Given the description of an element on the screen output the (x, y) to click on. 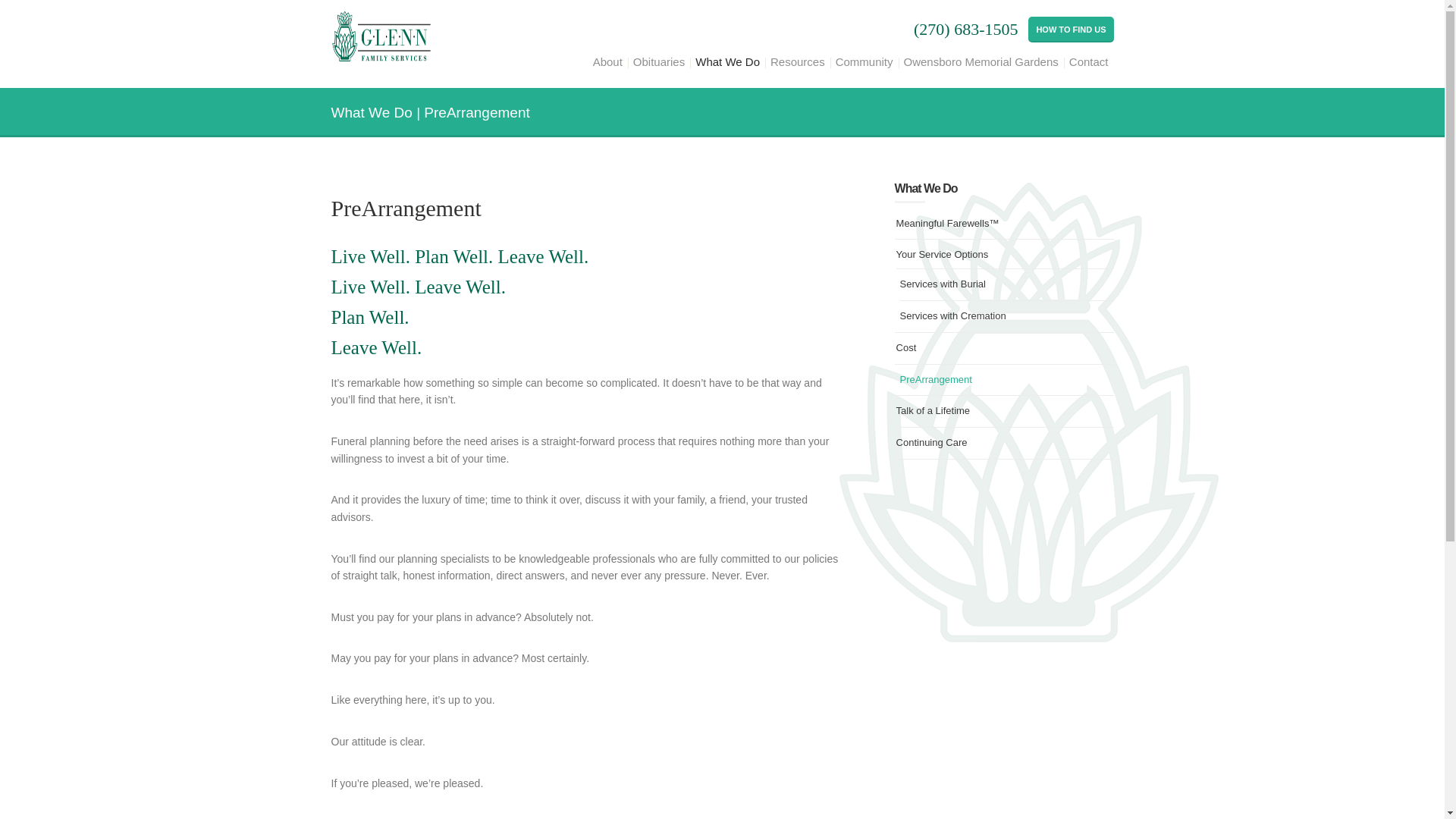
PreArrangement (934, 379)
Owensboro Memorial Gardens (981, 61)
Talk of a Lifetime (933, 410)
Contact (1088, 61)
Services with Cremation (952, 315)
Services with Burial (942, 283)
HOW TO FIND US (1070, 29)
Resources (797, 61)
Your Service Options (942, 253)
Obituaries (658, 61)
Cost (906, 347)
Community (863, 61)
About (607, 61)
What We Do (727, 61)
Continuing Care (932, 442)
